Given the description of an element on the screen output the (x, y) to click on. 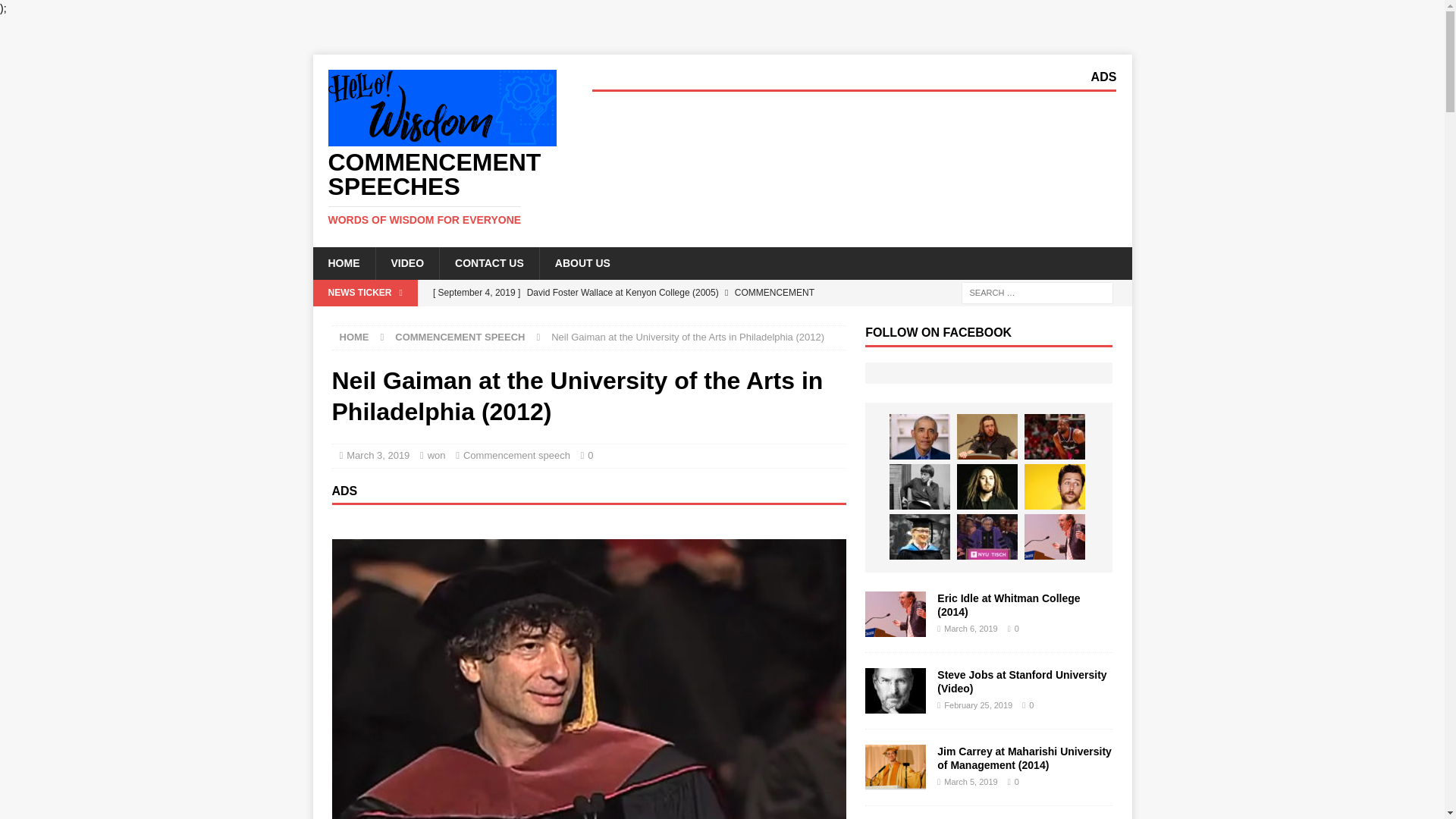
Search (56, 11)
ABOUT US (582, 263)
won (436, 455)
HOME (343, 263)
COMMENCEMENT SPEECH (459, 337)
CONTACT US (488, 263)
HOME (354, 337)
VIDEO (406, 263)
Commencement Speeches (441, 187)
March 3, 2019 (377, 455)
Commencement speech (441, 187)
